Given the description of an element on the screen output the (x, y) to click on. 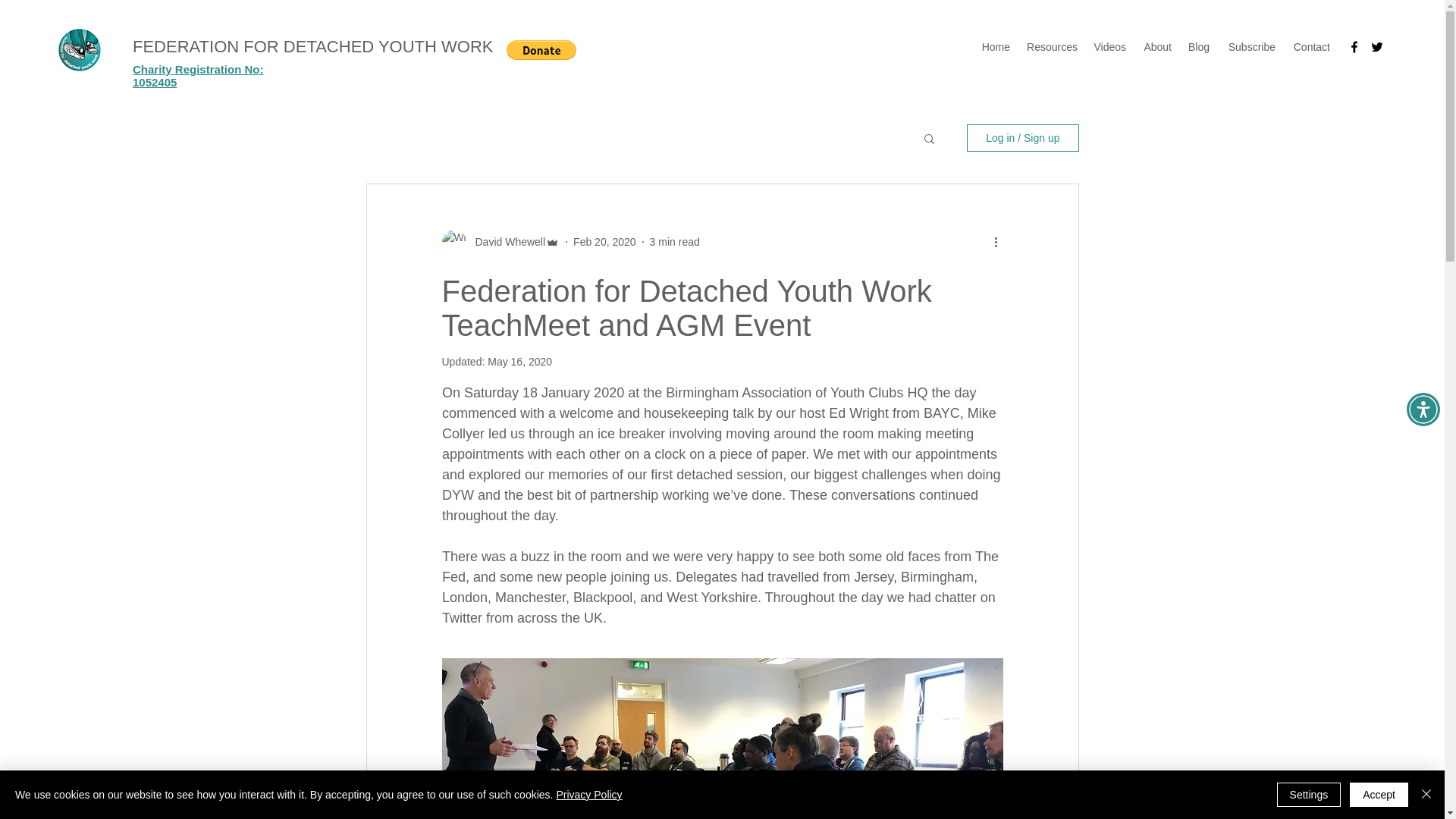
Accessibility Menu (1422, 409)
Home (994, 47)
FEDERATION FOR DETACHED YOUTH WORK (312, 46)
About (1156, 47)
May 16, 2020 (519, 361)
David Whewell (504, 241)
Contact (1310, 47)
Videos (1109, 47)
Charity Registration No: 1052405 (197, 75)
Subscribe (1249, 47)
